Given the description of an element on the screen output the (x, y) to click on. 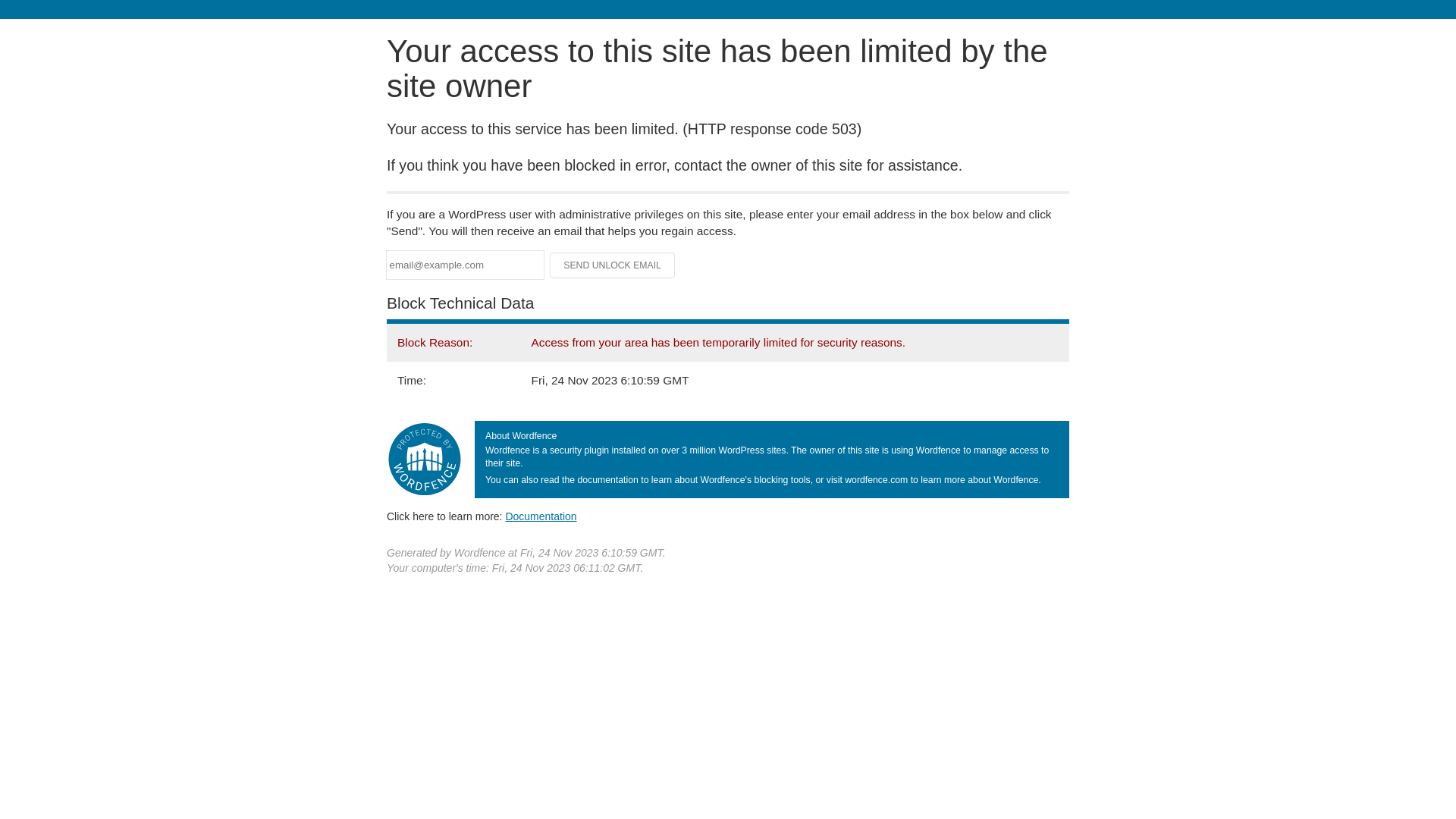
Documentation Element type: text (540, 516)
Send Unlock Email Element type: text (612, 265)
